Given the description of an element on the screen output the (x, y) to click on. 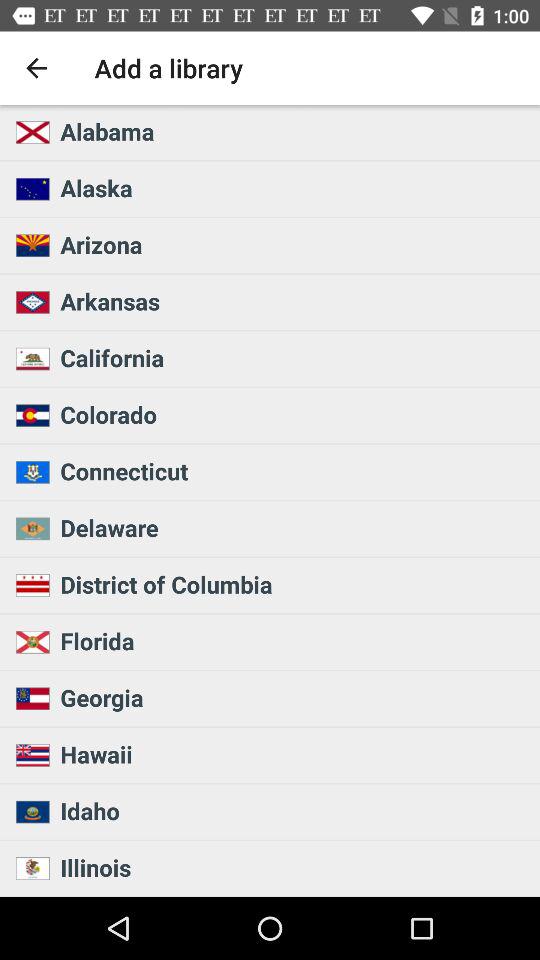
select icon below the delaware icon (294, 584)
